Given the description of an element on the screen output the (x, y) to click on. 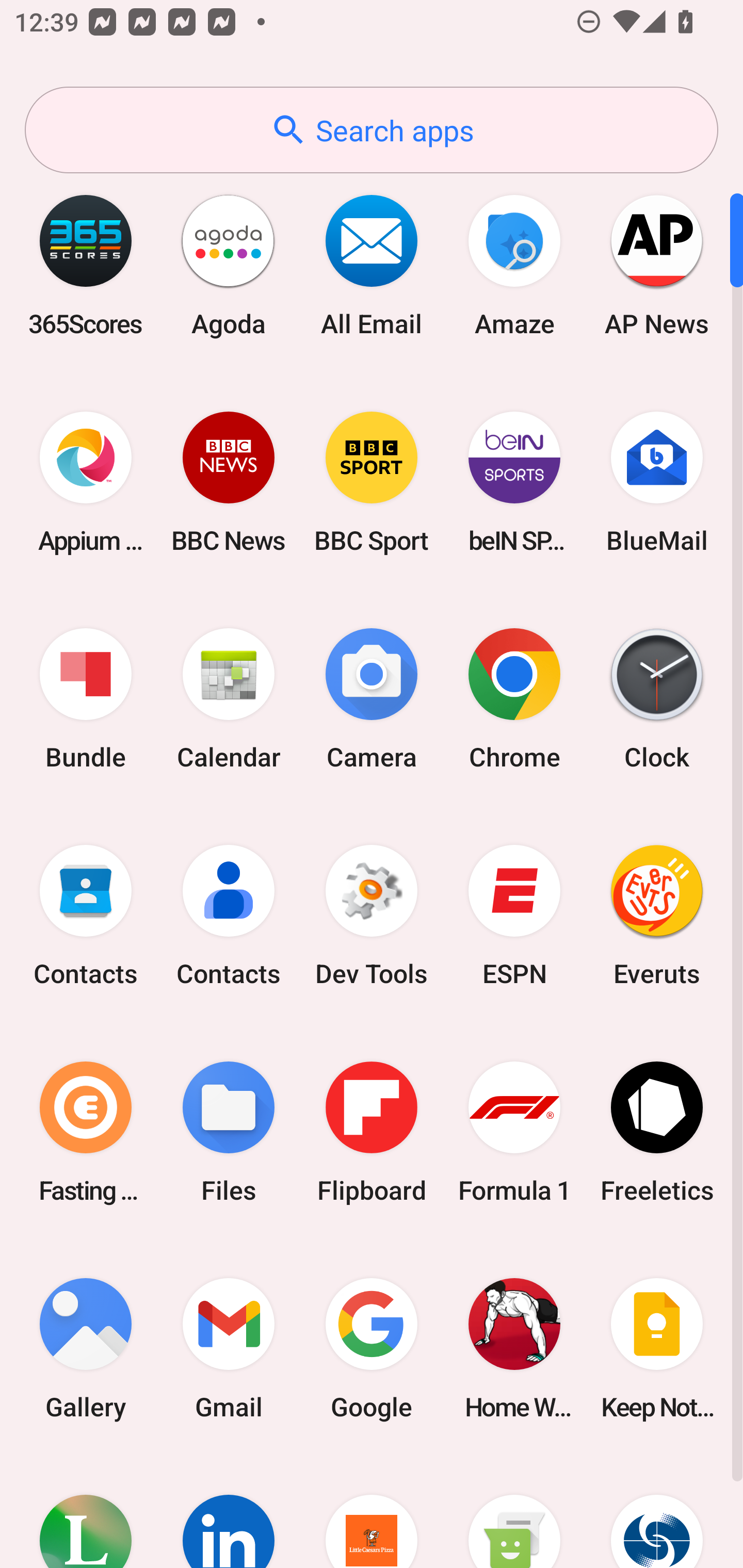
  Search apps (371, 130)
365Scores (85, 264)
Agoda (228, 264)
All Email (371, 264)
Amaze (514, 264)
AP News (656, 264)
Appium Settings (85, 482)
BBC News (228, 482)
BBC Sport (371, 482)
beIN SPORTS (514, 482)
BlueMail (656, 482)
Bundle (85, 699)
Calendar (228, 699)
Camera (371, 699)
Chrome (514, 699)
Clock (656, 699)
Contacts (85, 915)
Contacts (228, 915)
Dev Tools (371, 915)
ESPN (514, 915)
Everuts (656, 915)
Fasting Coach (85, 1131)
Files (228, 1131)
Flipboard (371, 1131)
Formula 1 (514, 1131)
Freeletics (656, 1131)
Gallery (85, 1348)
Gmail (228, 1348)
Google (371, 1348)
Home Workout (514, 1348)
Keep Notes (656, 1348)
